Given the description of an element on the screen output the (x, y) to click on. 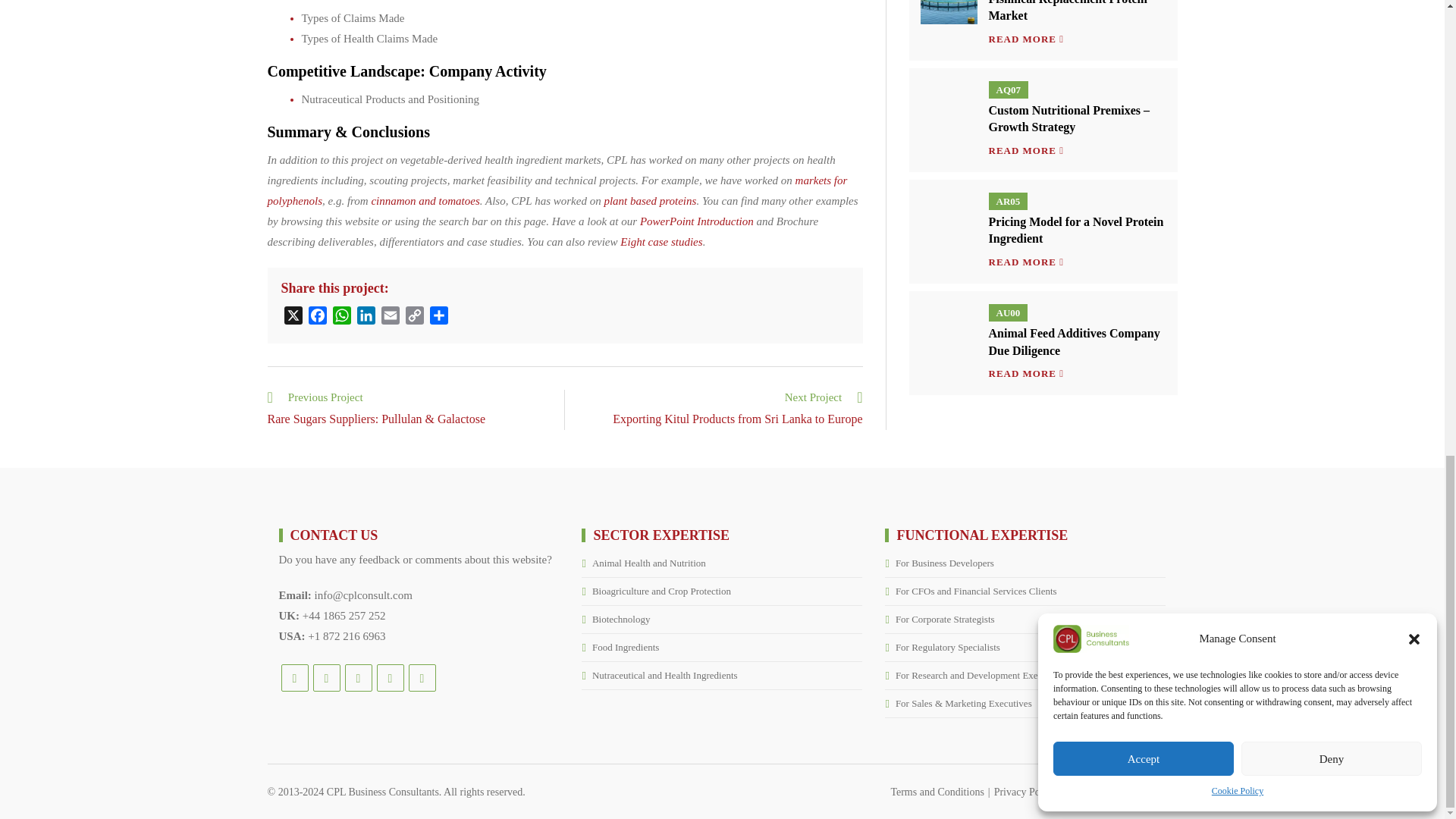
X (292, 318)
Email (389, 318)
LinkedIn (365, 318)
Copy Link (413, 318)
WhatsApp (341, 318)
Facebook (316, 318)
